Given the description of an element on the screen output the (x, y) to click on. 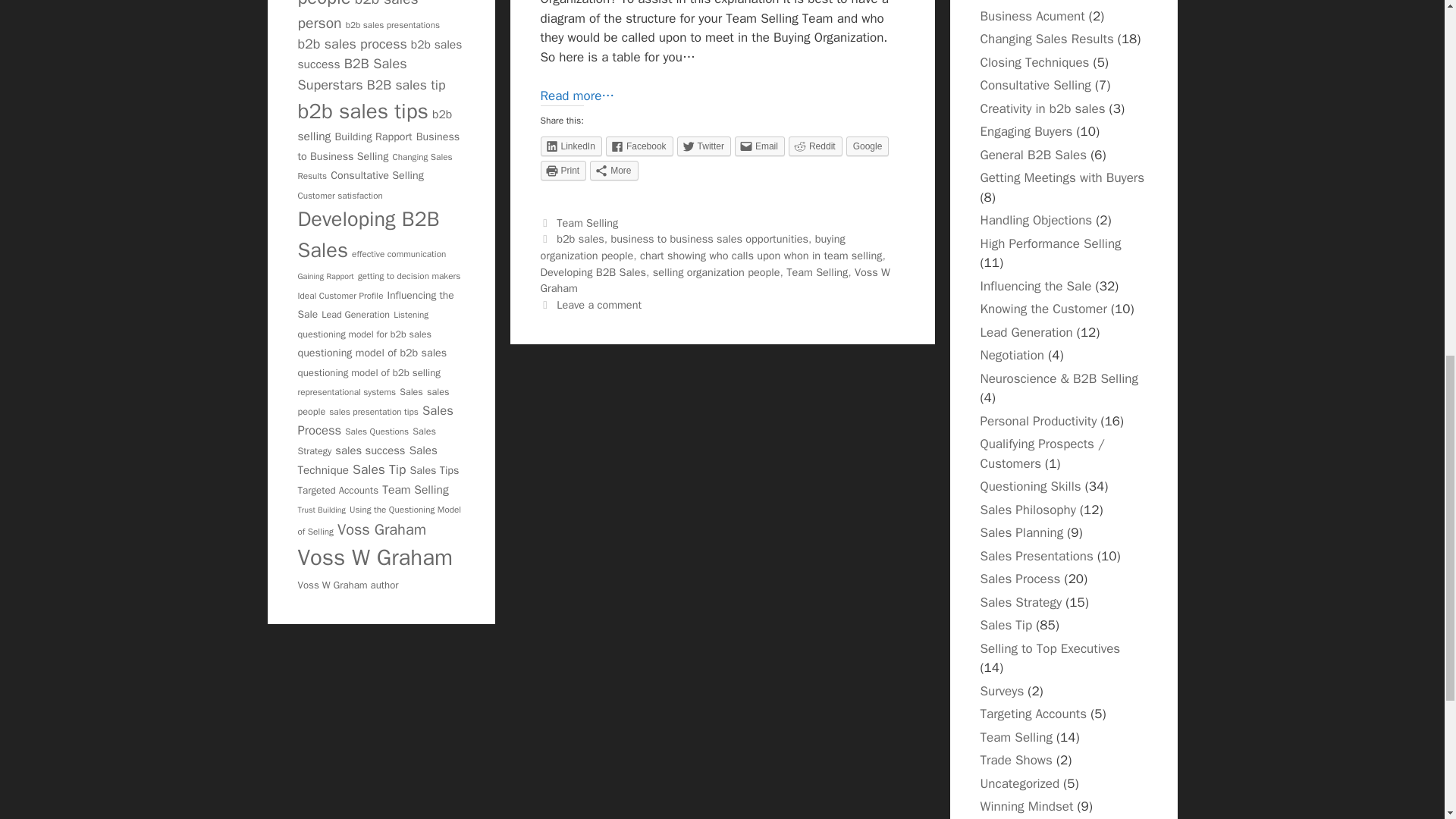
selling organization people (716, 272)
Facebook (638, 146)
Click to email this to a friend (759, 146)
Voss W Graham (714, 280)
b2b sales person (357, 16)
business to business sales opportunities (709, 238)
Google (867, 146)
b2b sales people (363, 4)
LinkedIn (570, 146)
Team Selling (816, 272)
Click to share on Facebook (638, 146)
Reddit (816, 146)
Click to share on LinkedIn (570, 146)
Leave a comment (599, 305)
